Given the description of an element on the screen output the (x, y) to click on. 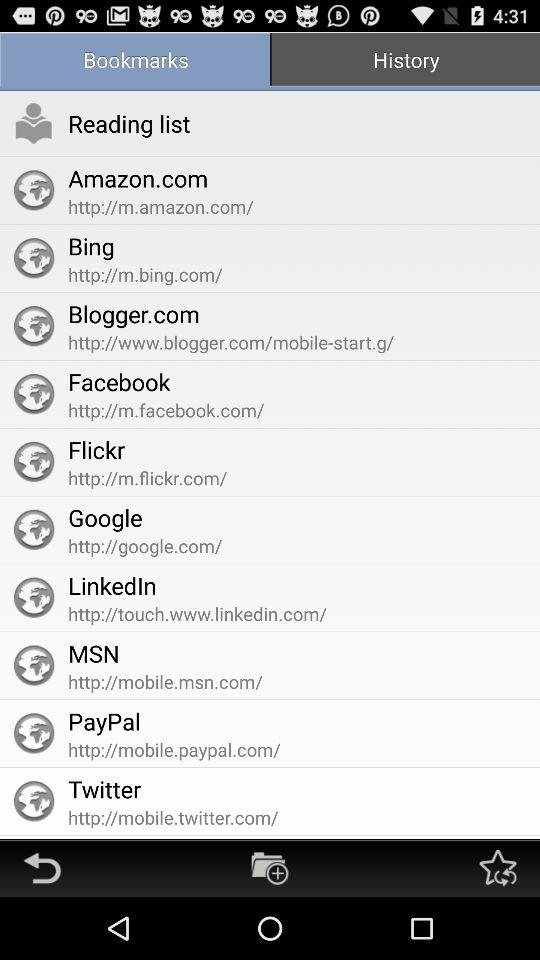
click icon above the amazon.com app (129, 123)
